Given the description of an element on the screen output the (x, y) to click on. 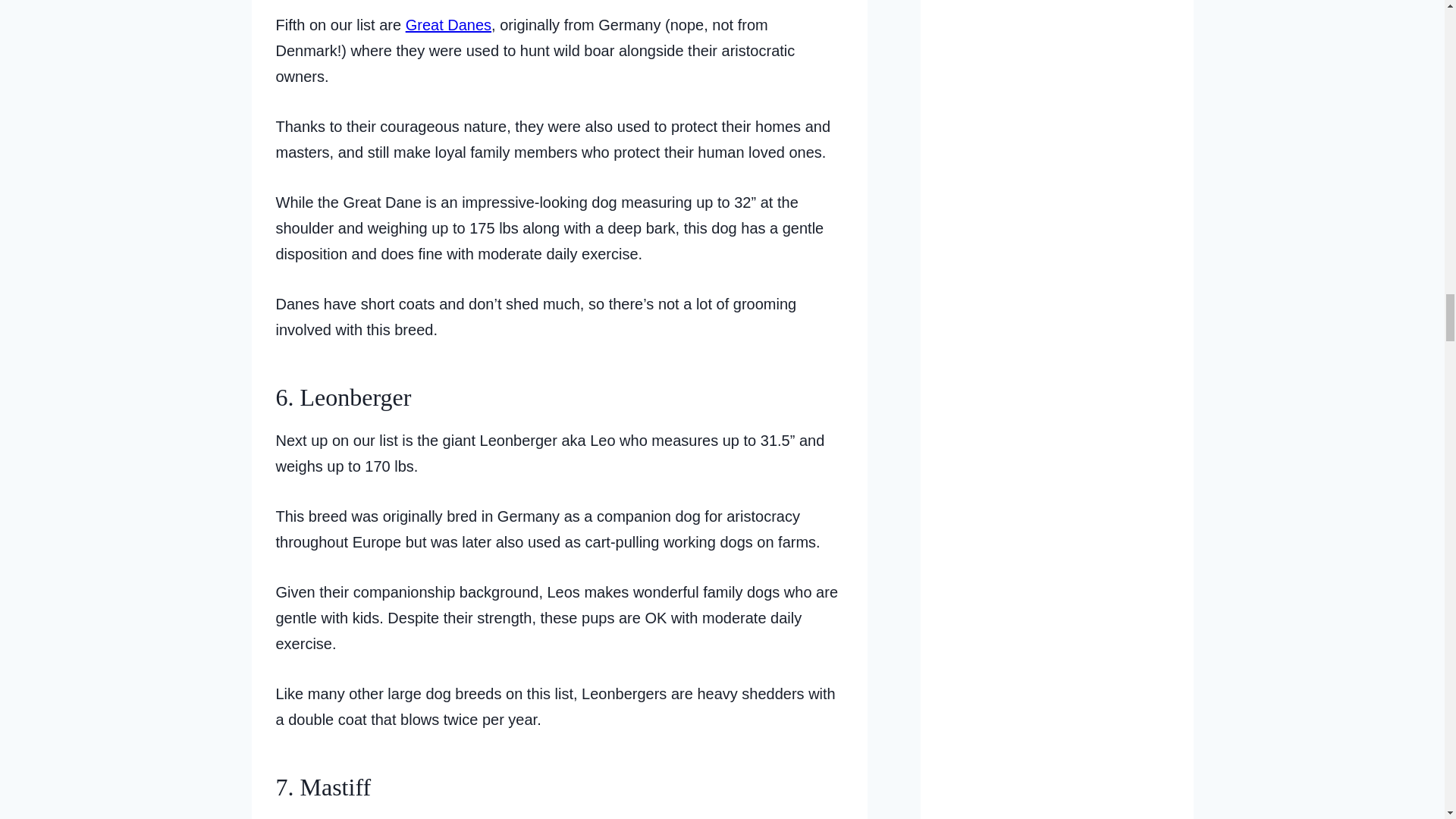
Great Danes (449, 24)
